Given the description of an element on the screen output the (x, y) to click on. 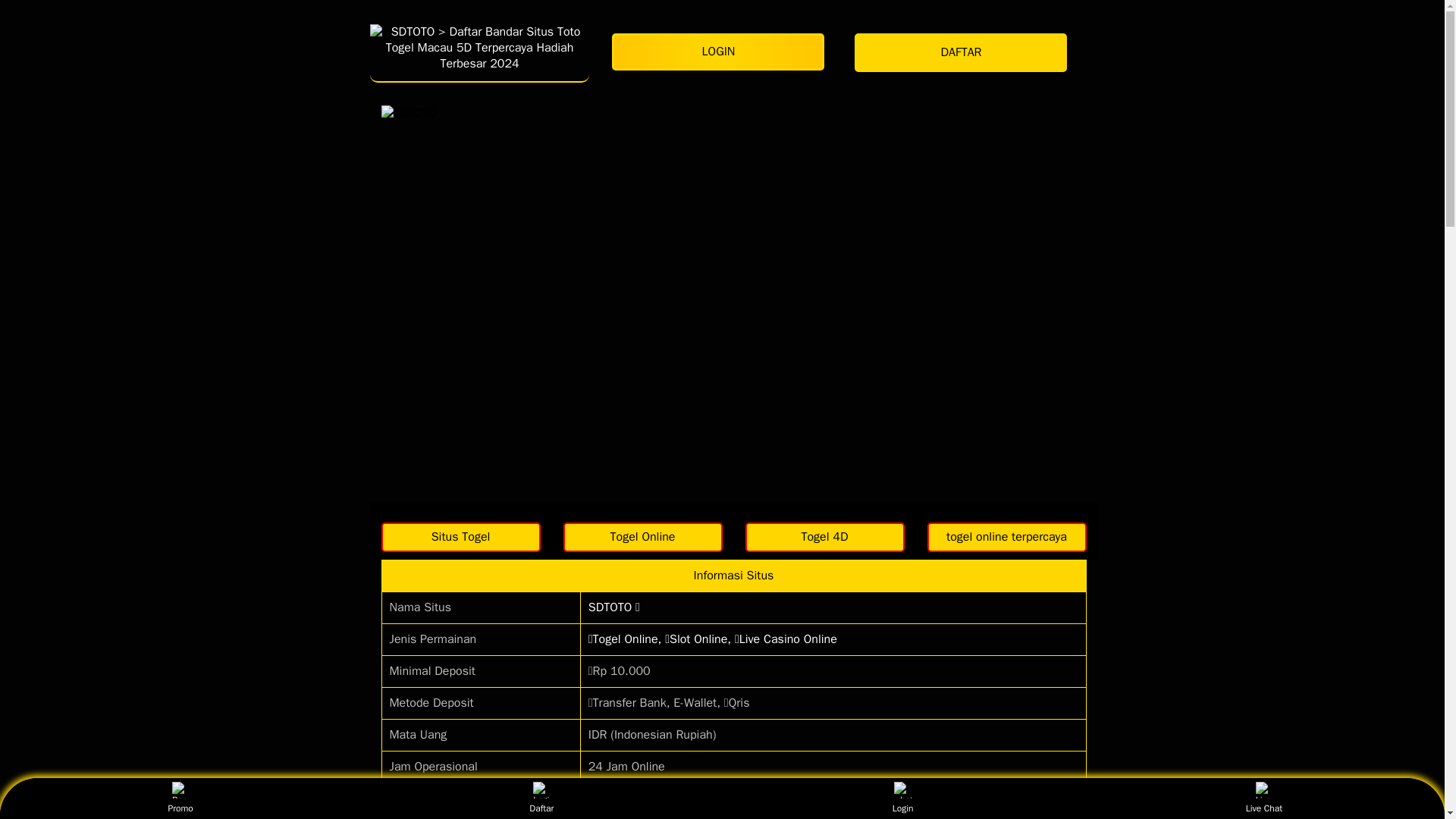
Togel Terpercaya (824, 537)
Togel Online (642, 537)
Togel Online (642, 537)
SDTOTO (479, 52)
Login (903, 797)
Live Chat (1263, 797)
LOGIN (721, 51)
togel online terpercaya (1006, 537)
Daftar (541, 797)
DAFTAR (964, 52)
Togel 4D (824, 537)
Promo (180, 797)
Situs Togel (460, 537)
Situs Togel (460, 537)
togel online terpercaya (1006, 537)
